Given the description of an element on the screen output the (x, y) to click on. 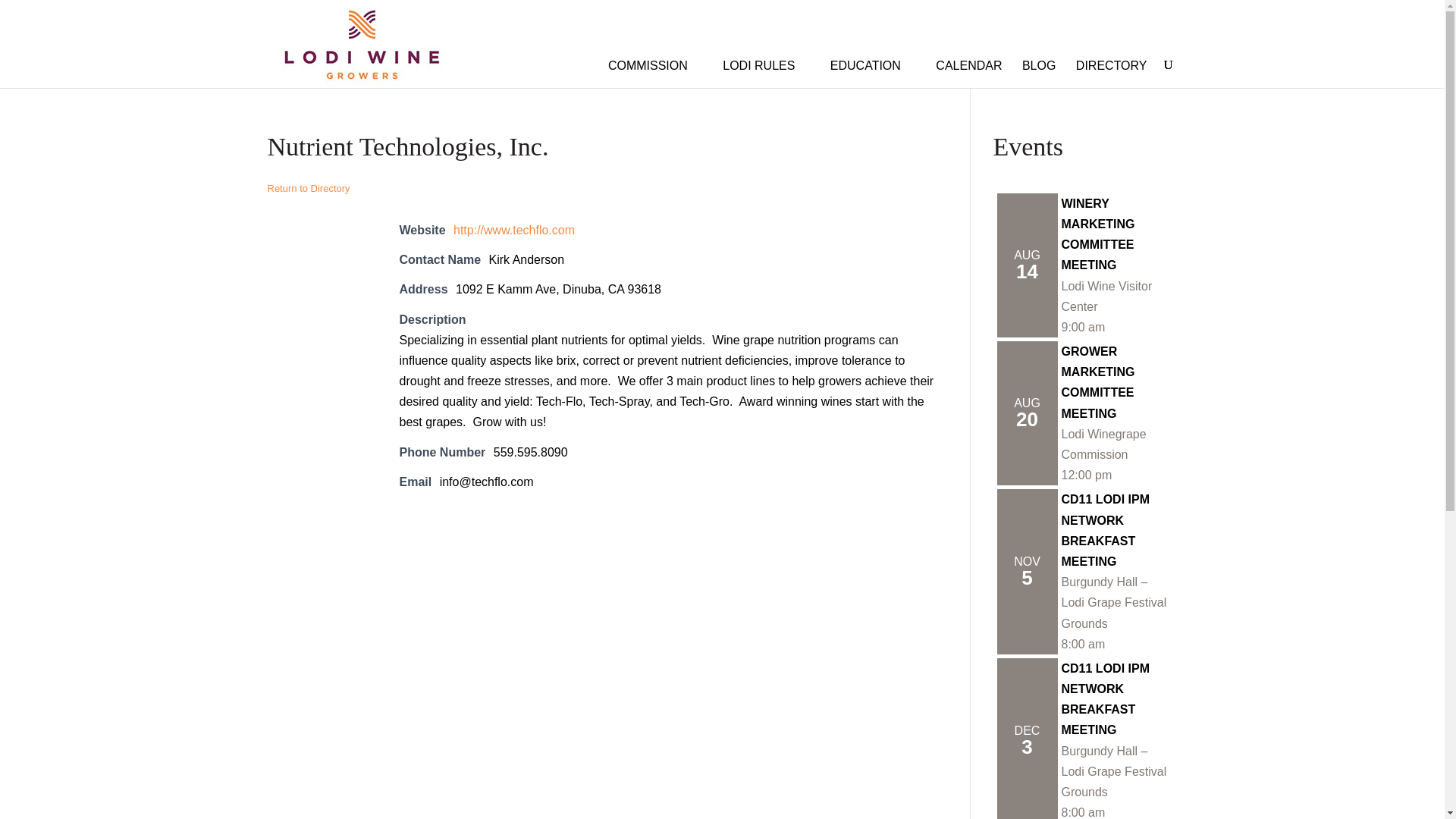
CD11 LODI IPM NETWORK BREAKFAST MEETING (1105, 530)
COMMISSION (655, 62)
EDUCATION (872, 62)
GROWER MARKETING COMMITTEE MEETING (1098, 382)
LODI RULES (765, 62)
CD11 LODI IPM NETWORK BREAKFAST MEETING (1105, 699)
CALENDAR (968, 62)
WINERY MARKETING COMMITTEE MEETING (1098, 234)
DIRECTORY (1111, 62)
Return to Directory (307, 188)
